Given the description of an element on the screen output the (x, y) to click on. 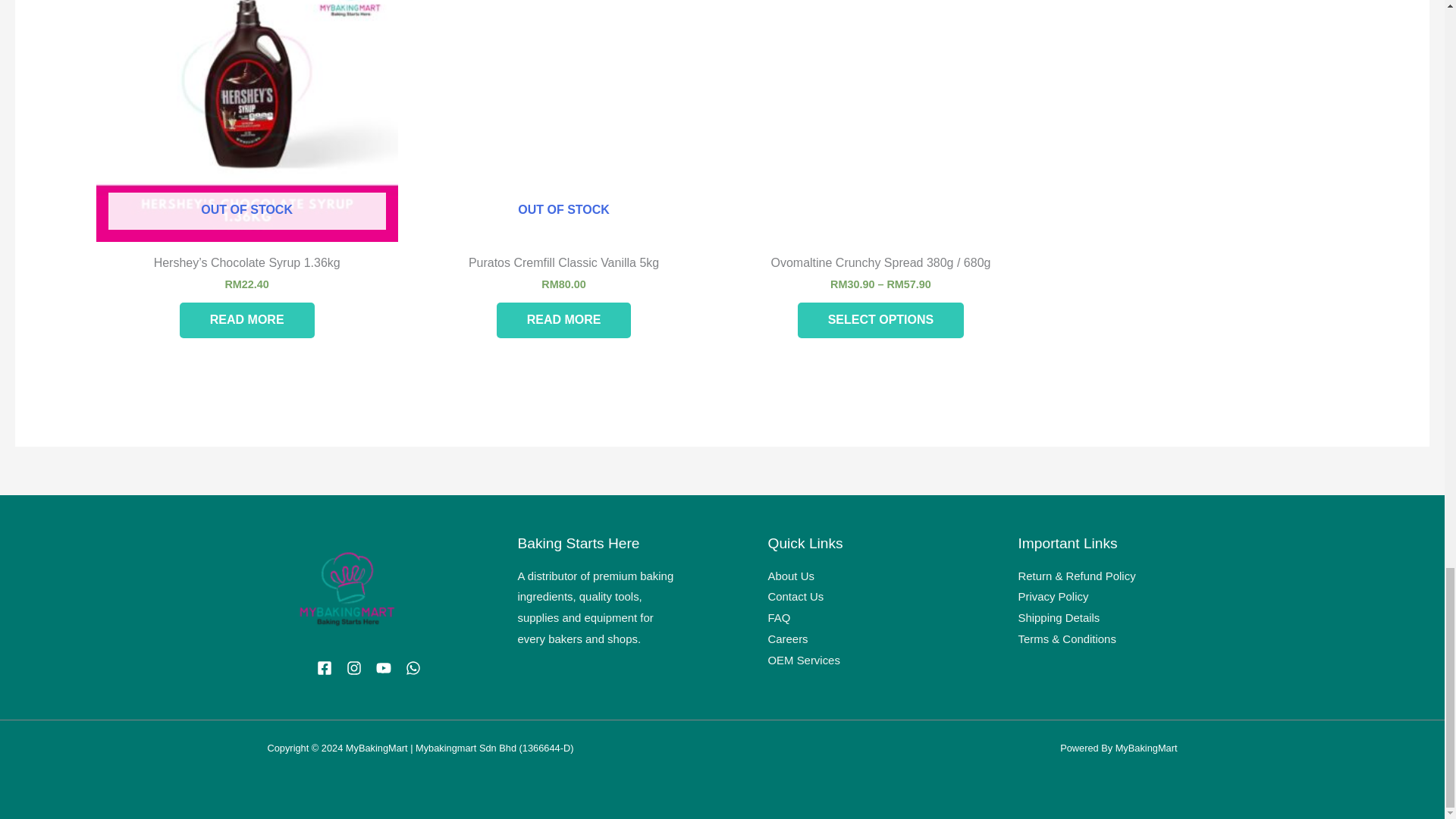
About Us (790, 575)
OUT OF STOCK (246, 120)
Puratos Cremfill Classic Vanilla 5kg (563, 266)
READ MORE (563, 320)
FAQ (778, 617)
Contact Us (795, 595)
OUT OF STOCK (563, 120)
READ MORE (246, 320)
SELECT OPTIONS (880, 320)
